Given the description of an element on the screen output the (x, y) to click on. 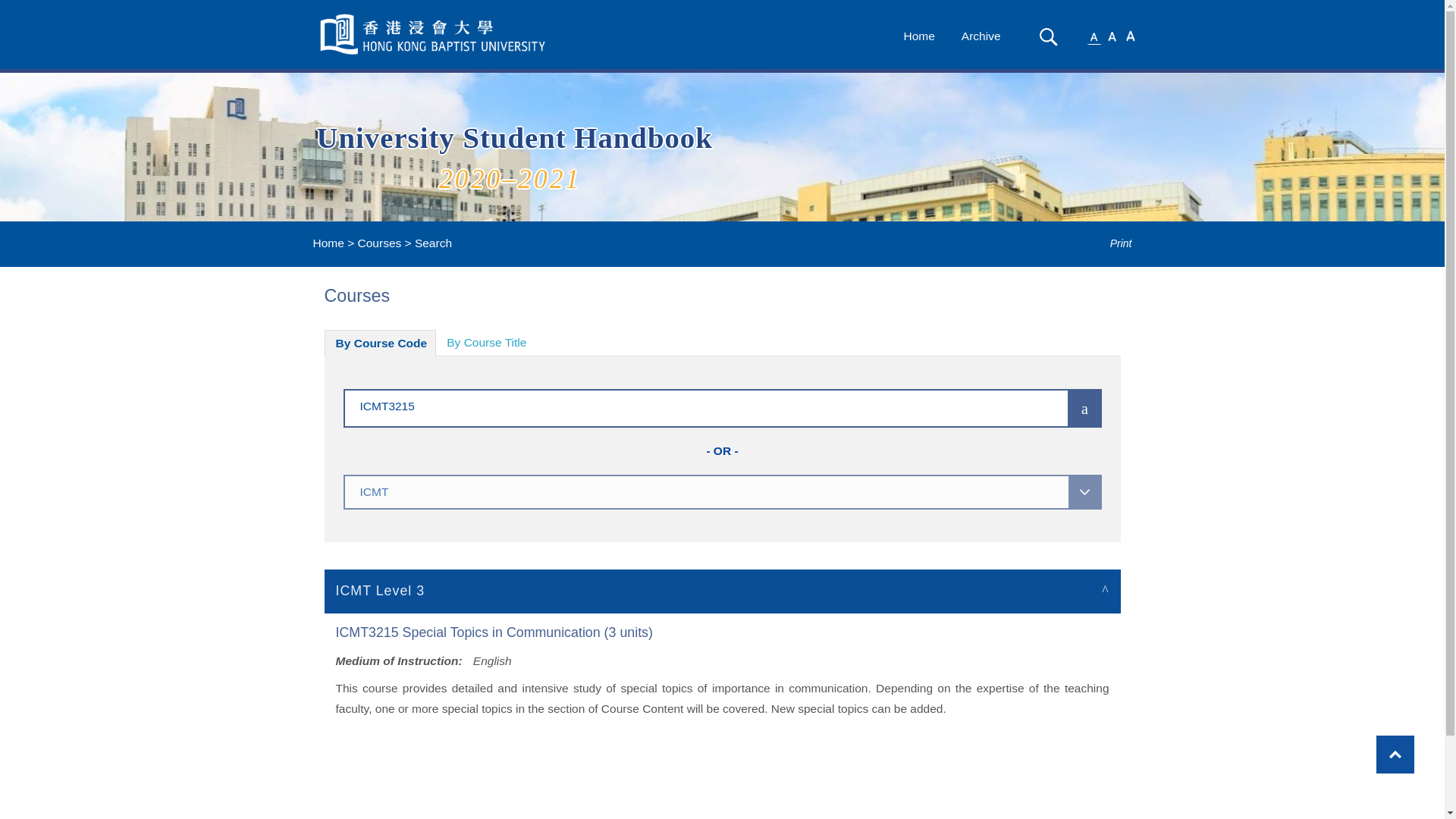
ICMT3215 (683, 404)
Scroll To Top (1394, 754)
Scroll To Top (1394, 754)
Courses (379, 242)
By Course Title (486, 342)
Home (328, 242)
HKBU Student Handbook (434, 34)
Home (918, 36)
Search (1048, 36)
ICMT Level 3 (722, 590)
ICMT3215 (683, 404)
selected (434, 34)
By Course Code (381, 343)
Scroll To Top (1394, 754)
Search (1048, 36)
